Given the description of an element on the screen output the (x, y) to click on. 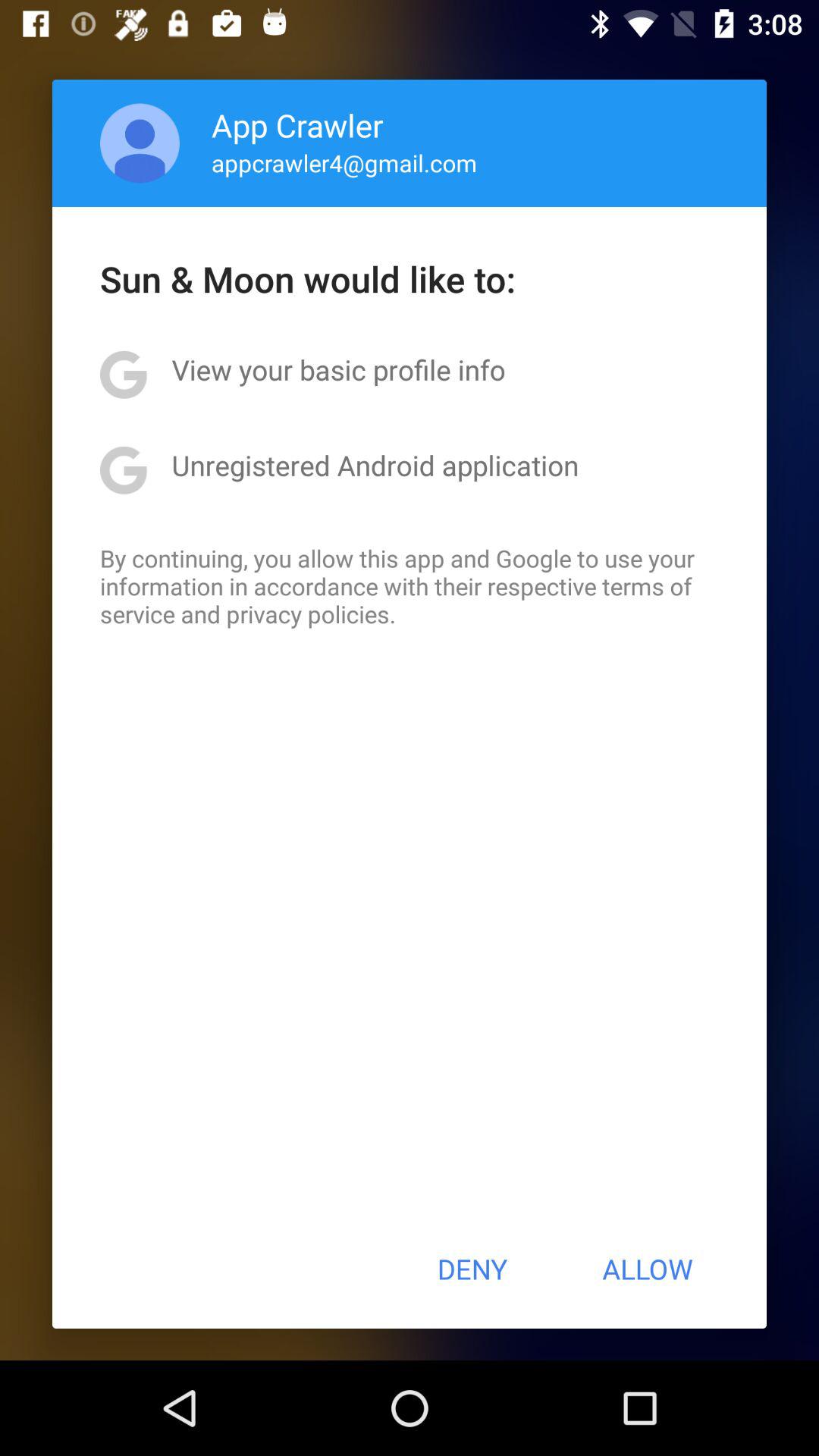
turn off the item to the left of allow item (471, 1268)
